Given the description of an element on the screen output the (x, y) to click on. 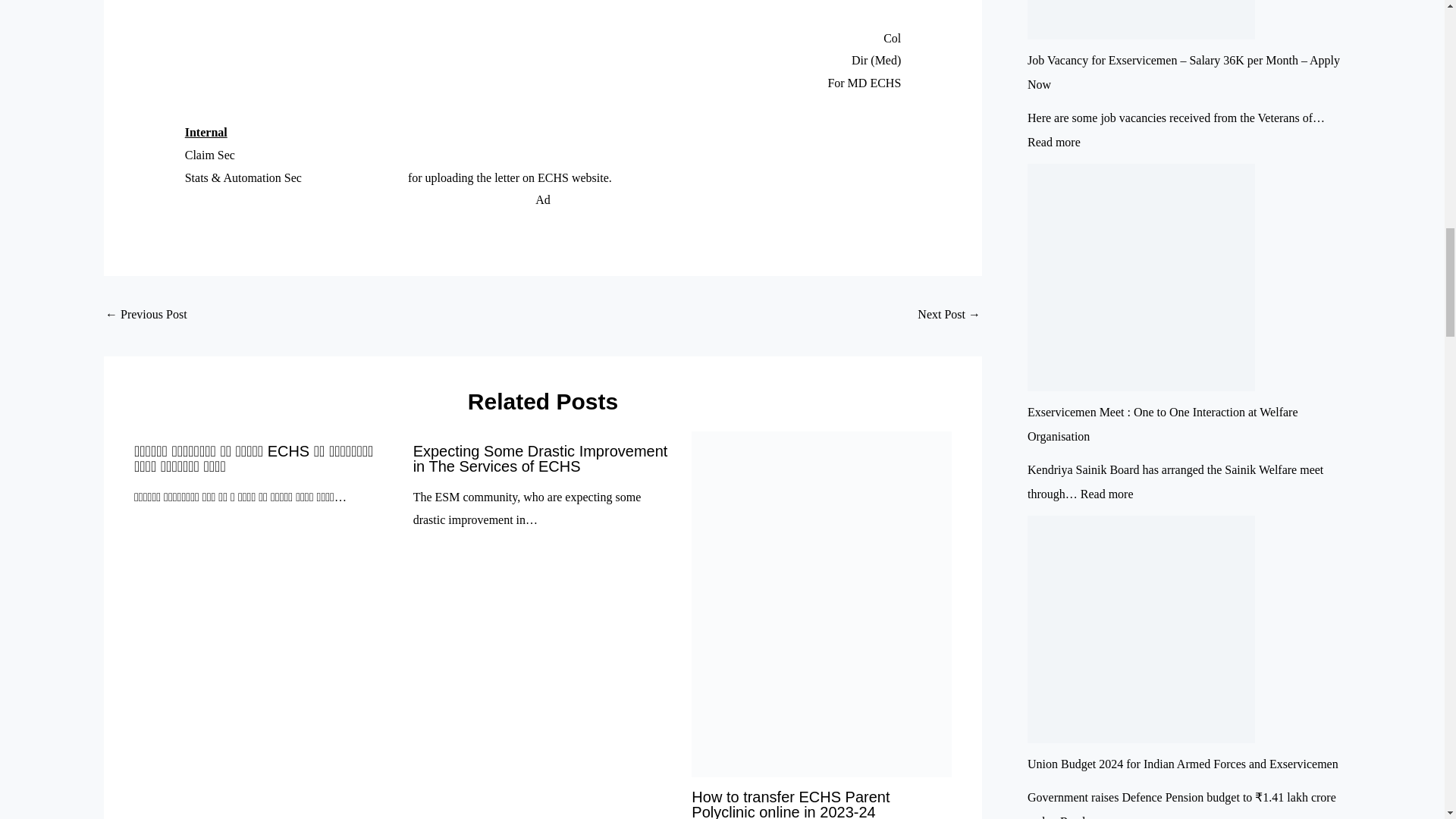
How to transfer ECHS Parent Polyclinic online in 2023-24 (790, 803)
Expecting Some Drastic Improvement in The Services of ECHS (540, 459)
